Given the description of an element on the screen output the (x, y) to click on. 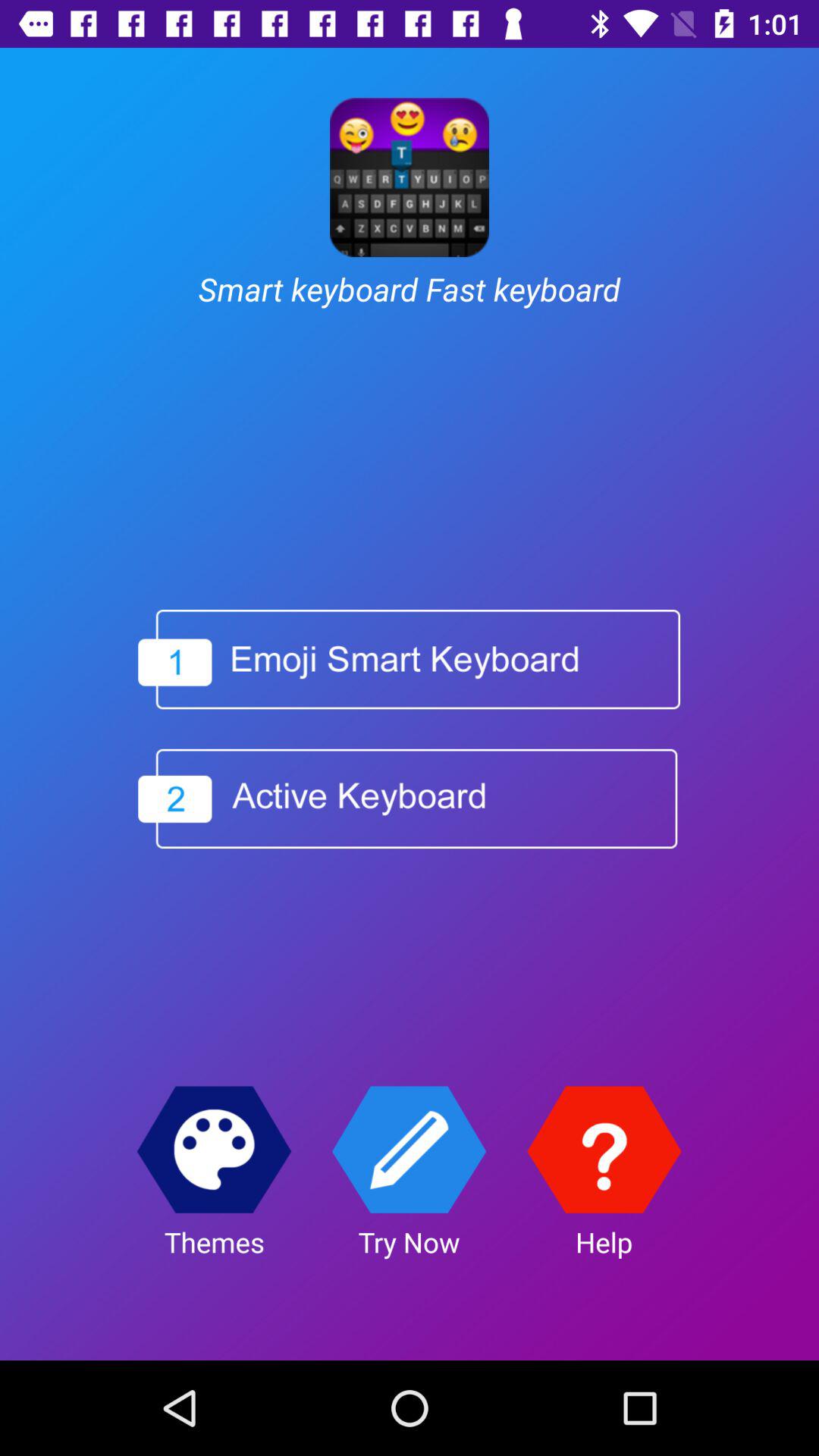
click the pencil (408, 1149)
